Given the description of an element on the screen output the (x, y) to click on. 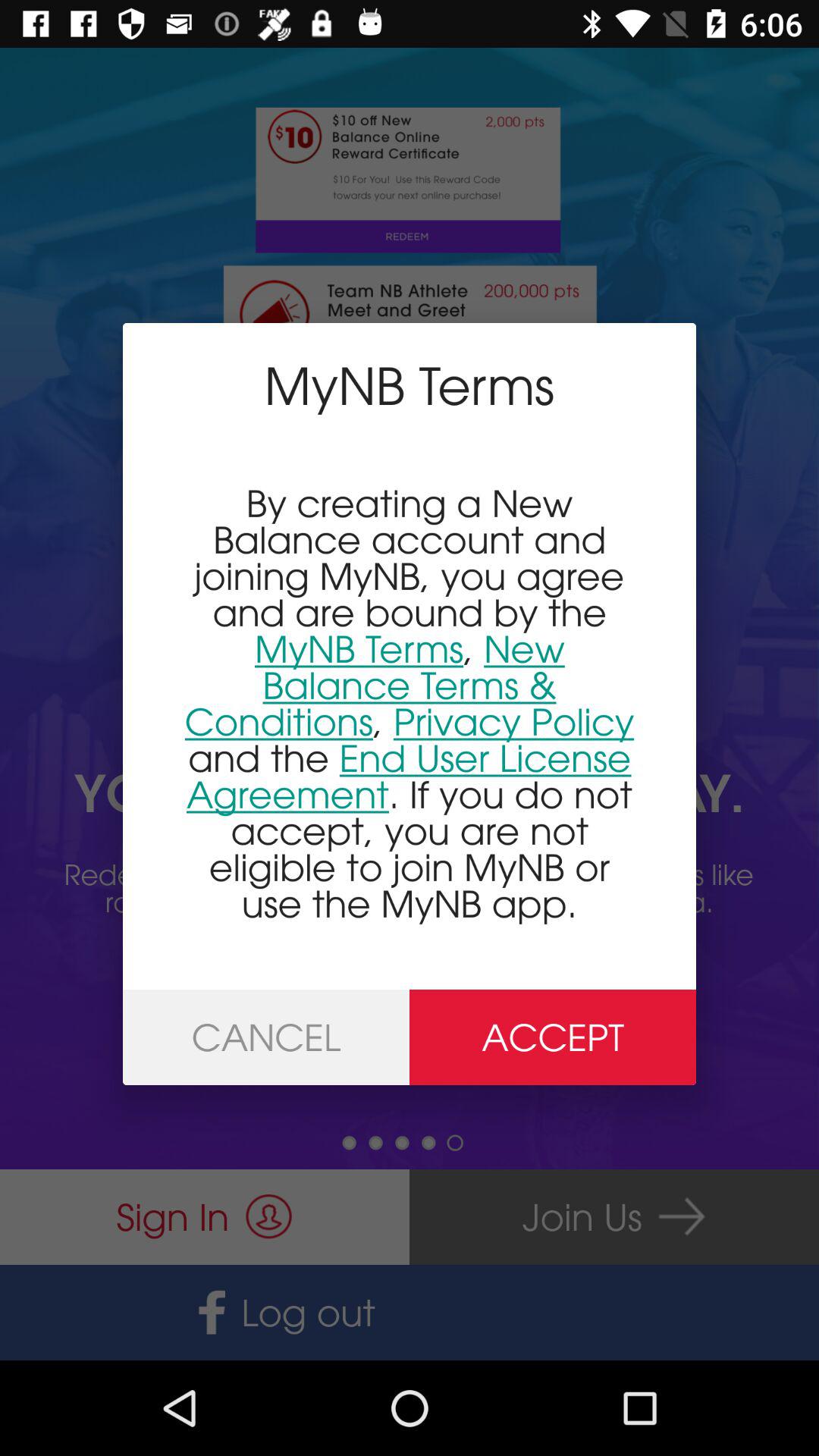
choose icon below the mynb terms item (409, 702)
